Given the description of an element on the screen output the (x, y) to click on. 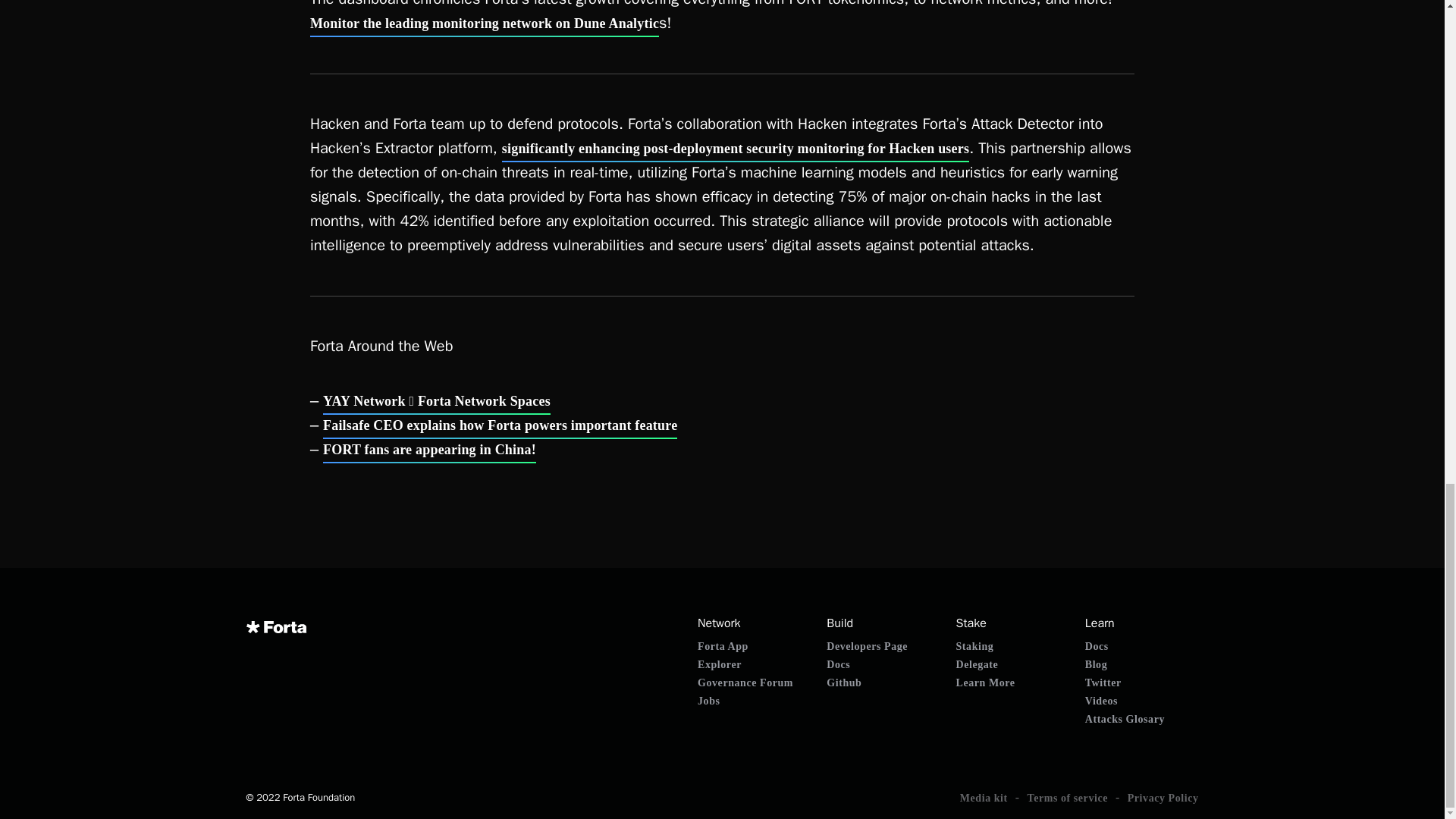
Docs (838, 664)
Staking (975, 645)
Jobs (708, 700)
Learn More (985, 682)
Blog (1095, 664)
Monitor the leading monitoring network on Dune Analytic (484, 23)
Failsafe CEO explains how Forta powers important feature (500, 425)
Docs (1096, 645)
Github (844, 682)
